Given the description of an element on the screen output the (x, y) to click on. 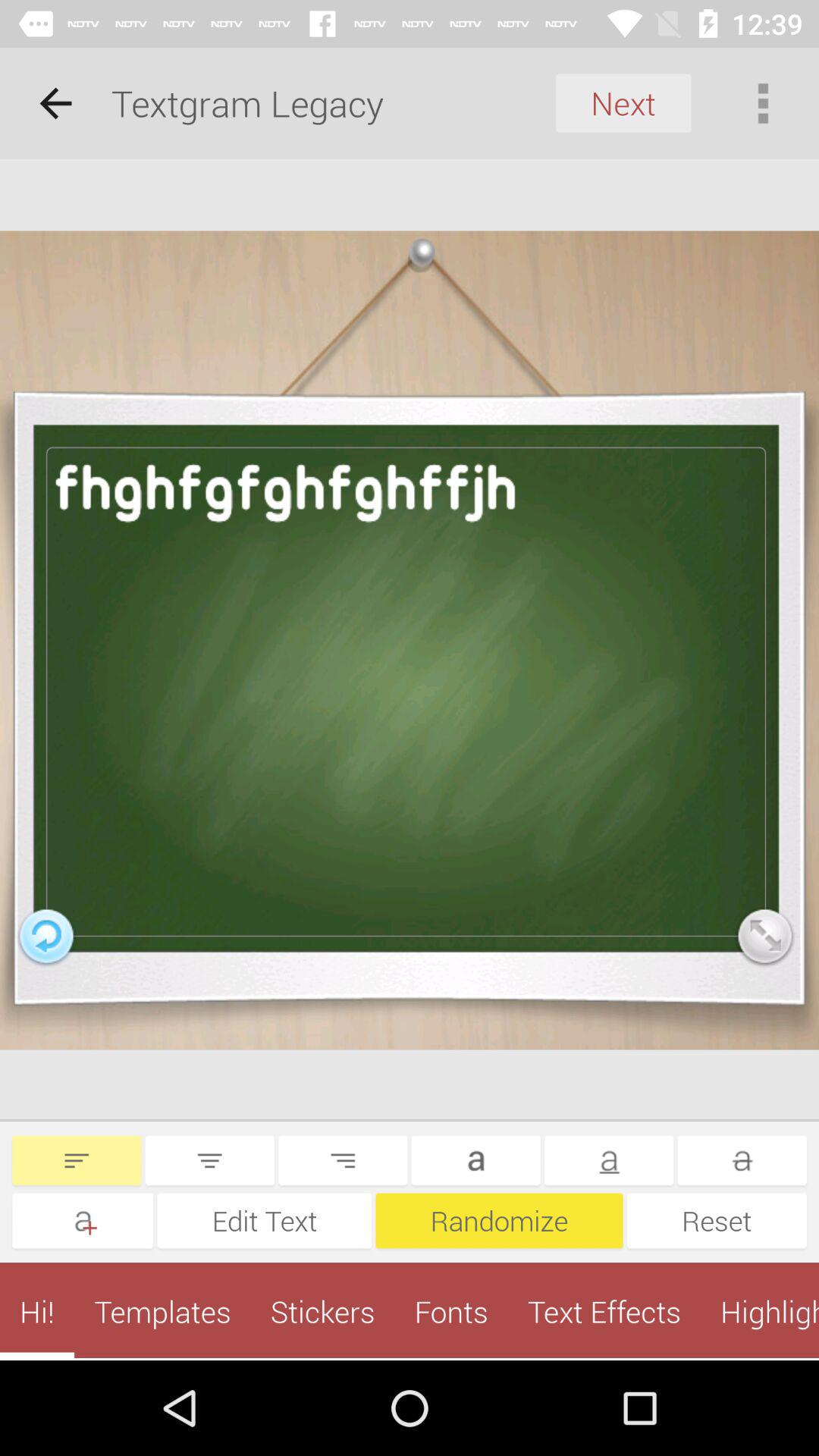
jump to the stickers item (322, 1311)
